Given the description of an element on the screen output the (x, y) to click on. 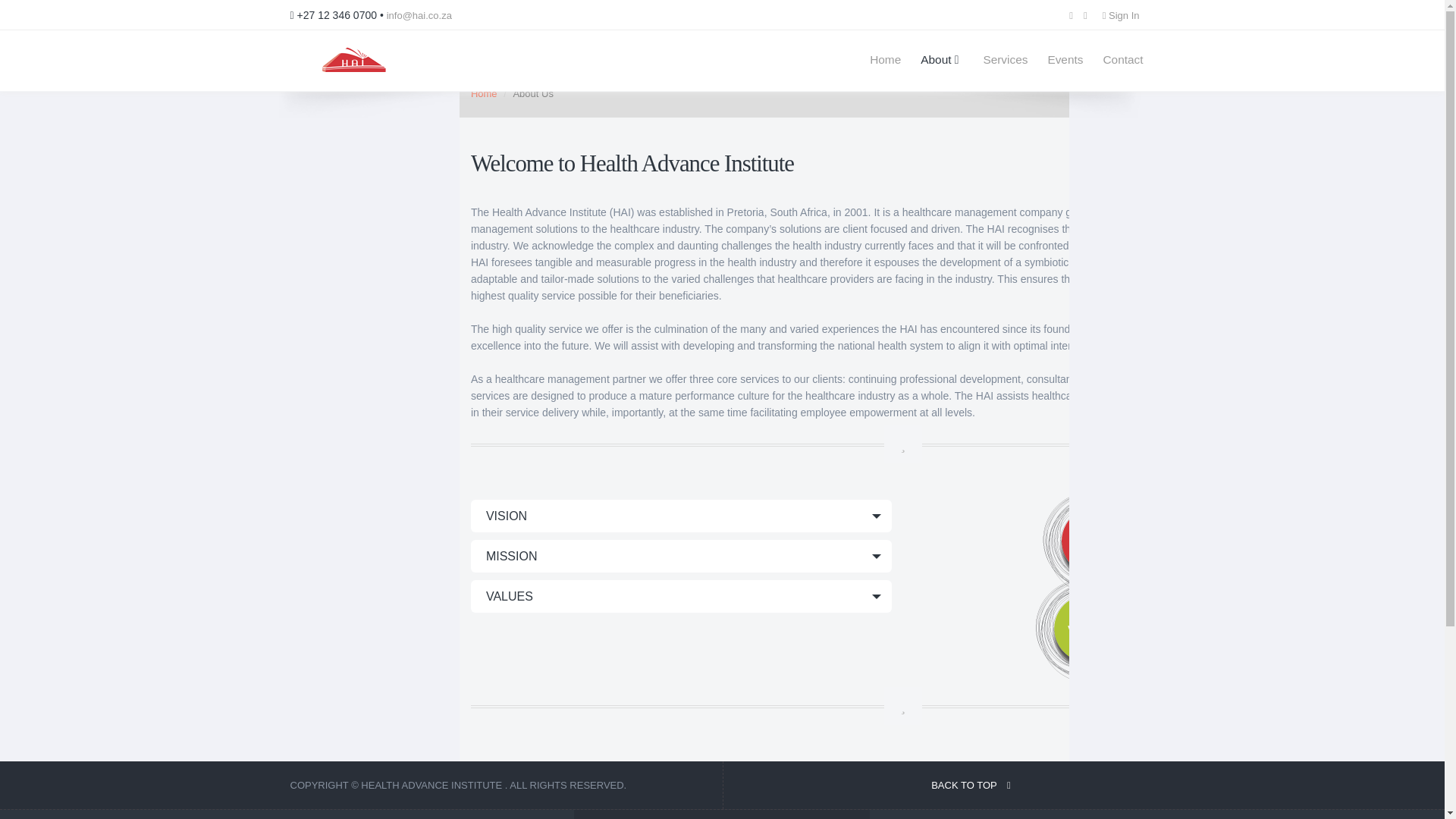
Events (1064, 60)
About (941, 60)
Sign In (1124, 15)
Services (1000, 60)
BACK TO TOP (1005, 60)
Home (944, 785)
Home (483, 93)
Contact (885, 60)
